Given the description of an element on the screen output the (x, y) to click on. 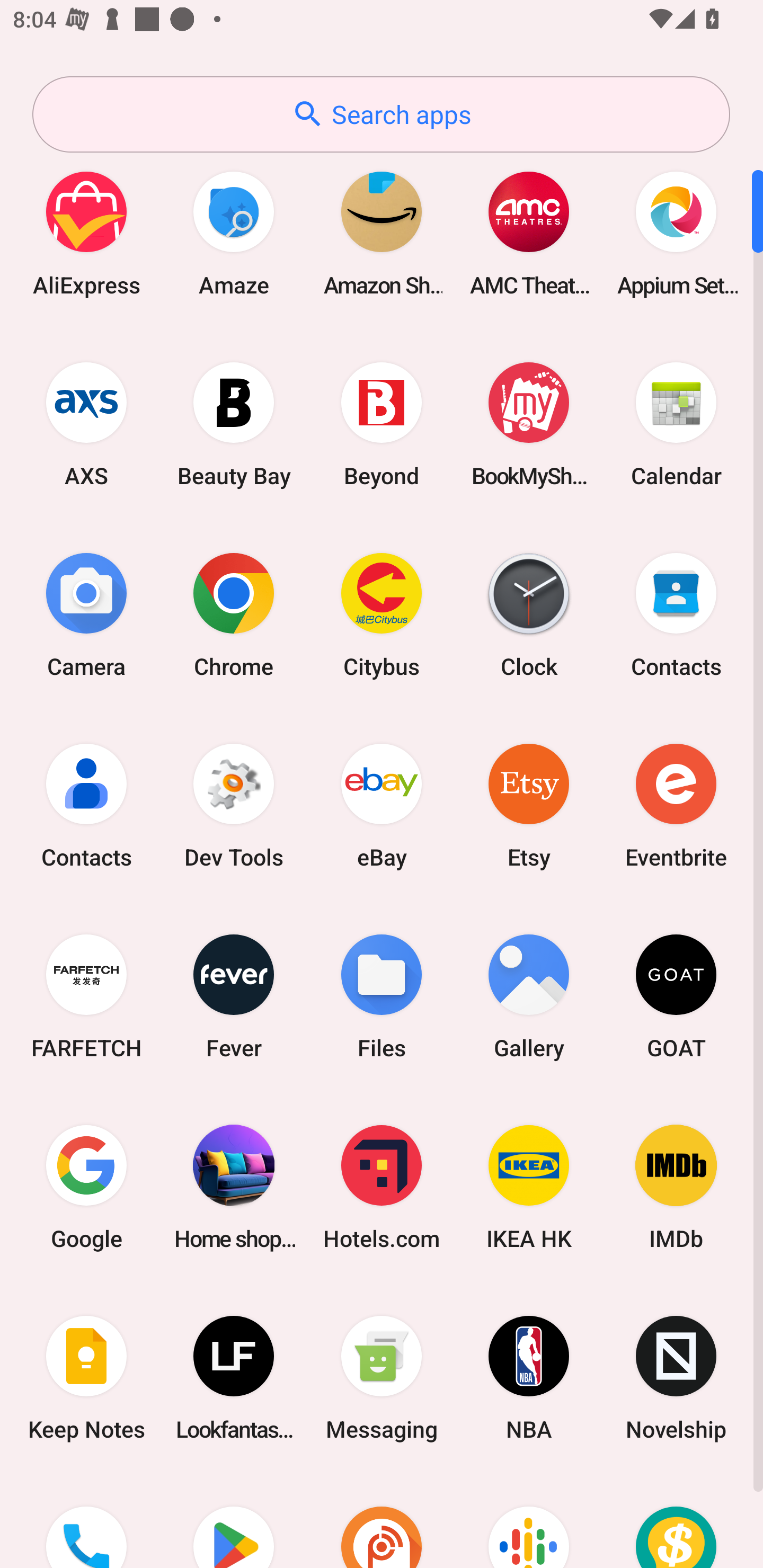
  Search apps (381, 114)
AliExpress (86, 233)
Amaze (233, 233)
Amazon Shopping (381, 233)
AMC Theatres (528, 233)
Appium Settings (676, 233)
AXS (86, 424)
Beauty Bay (233, 424)
Beyond (381, 424)
BookMyShow (528, 424)
Calendar (676, 424)
Camera (86, 614)
Chrome (233, 614)
Citybus (381, 614)
Clock (528, 614)
Contacts (676, 614)
Contacts (86, 805)
Dev Tools (233, 805)
eBay (381, 805)
Etsy (528, 805)
Eventbrite (676, 805)
FARFETCH (86, 996)
Fever (233, 996)
Files (381, 996)
Gallery (528, 996)
GOAT (676, 996)
Google (86, 1186)
Home shopping (233, 1186)
Hotels.com (381, 1186)
IKEA HK (528, 1186)
IMDb (676, 1186)
Keep Notes (86, 1377)
Lookfantastic (233, 1377)
Messaging (381, 1377)
NBA (528, 1377)
Novelship (676, 1377)
Phone (86, 1520)
Play Store (233, 1520)
Podcast Addict (381, 1520)
Podcasts (528, 1520)
Price (676, 1520)
